Given the description of an element on the screen output the (x, y) to click on. 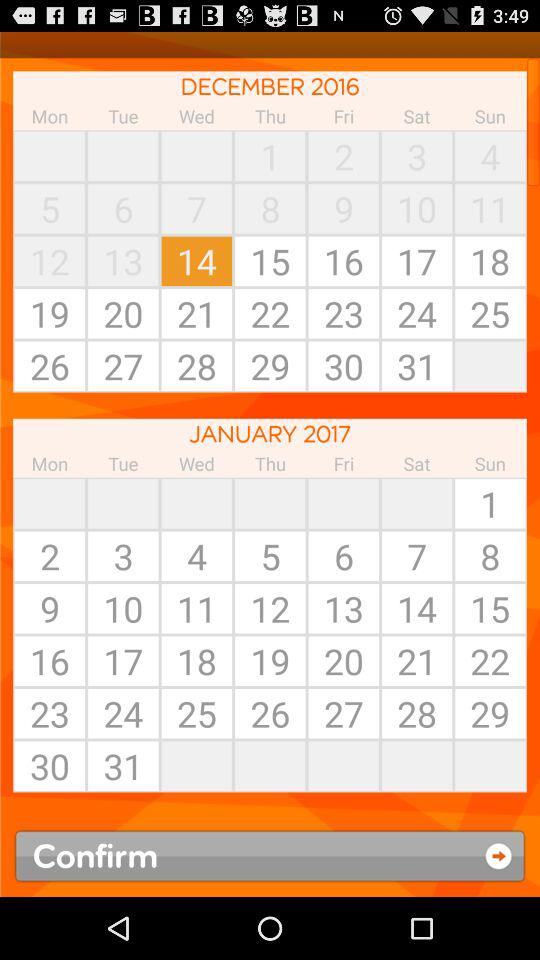
choose app to the left of the 26 icon (196, 765)
